Given the description of an element on the screen output the (x, y) to click on. 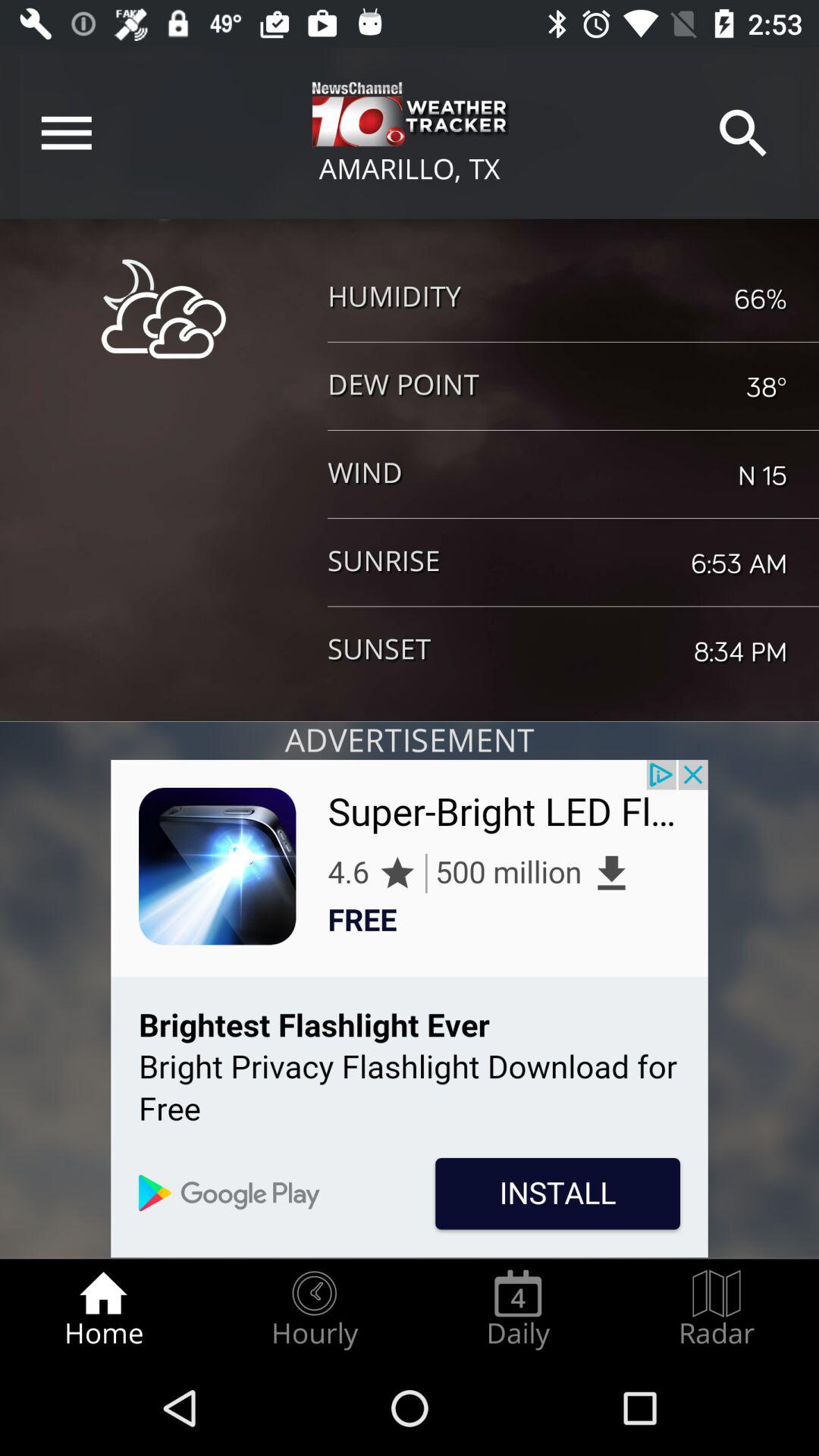
select the item at the bottom left corner (103, 1309)
